Given the description of an element on the screen output the (x, y) to click on. 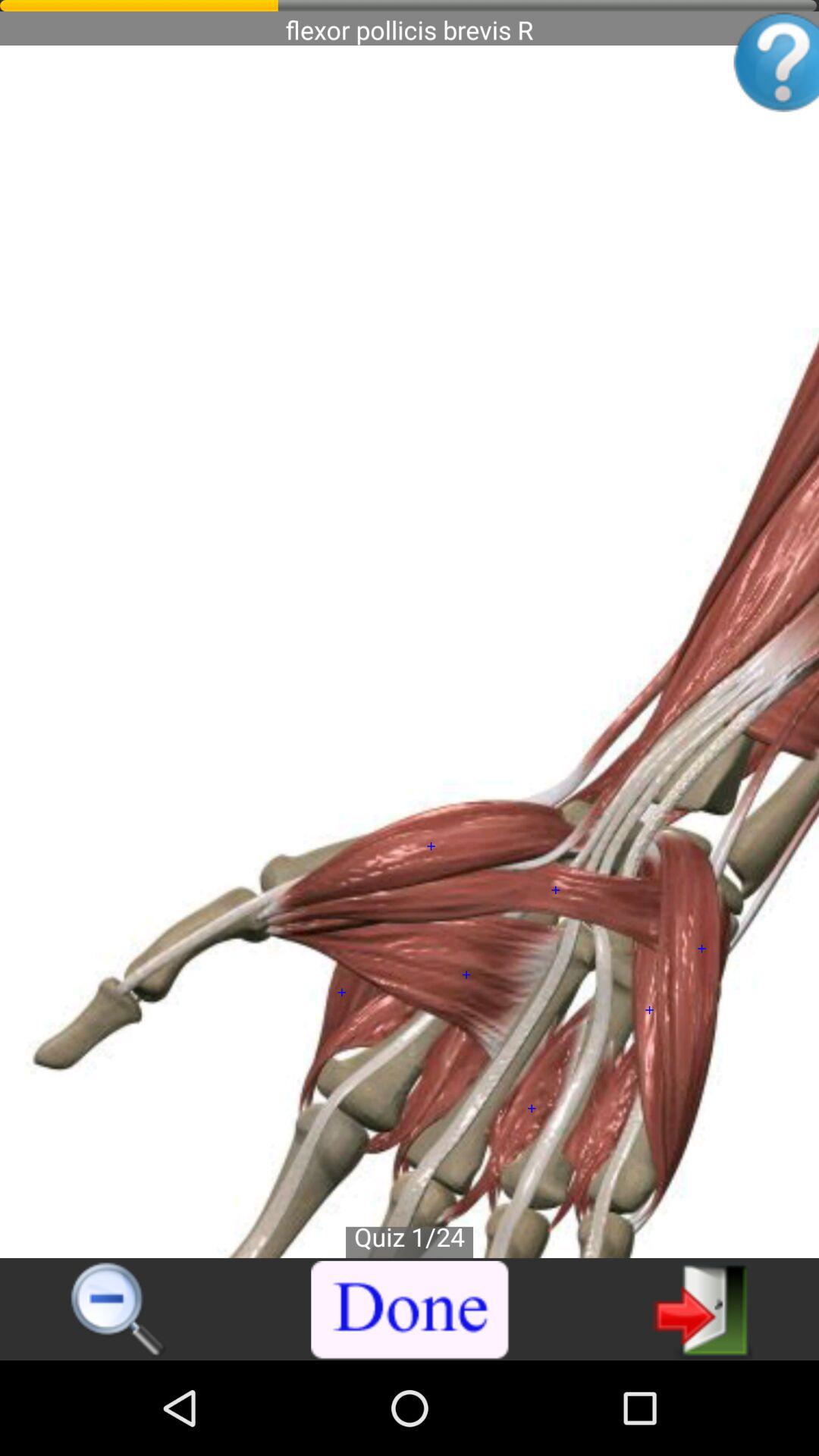
exit (702, 1309)
